Given the description of an element on the screen output the (x, y) to click on. 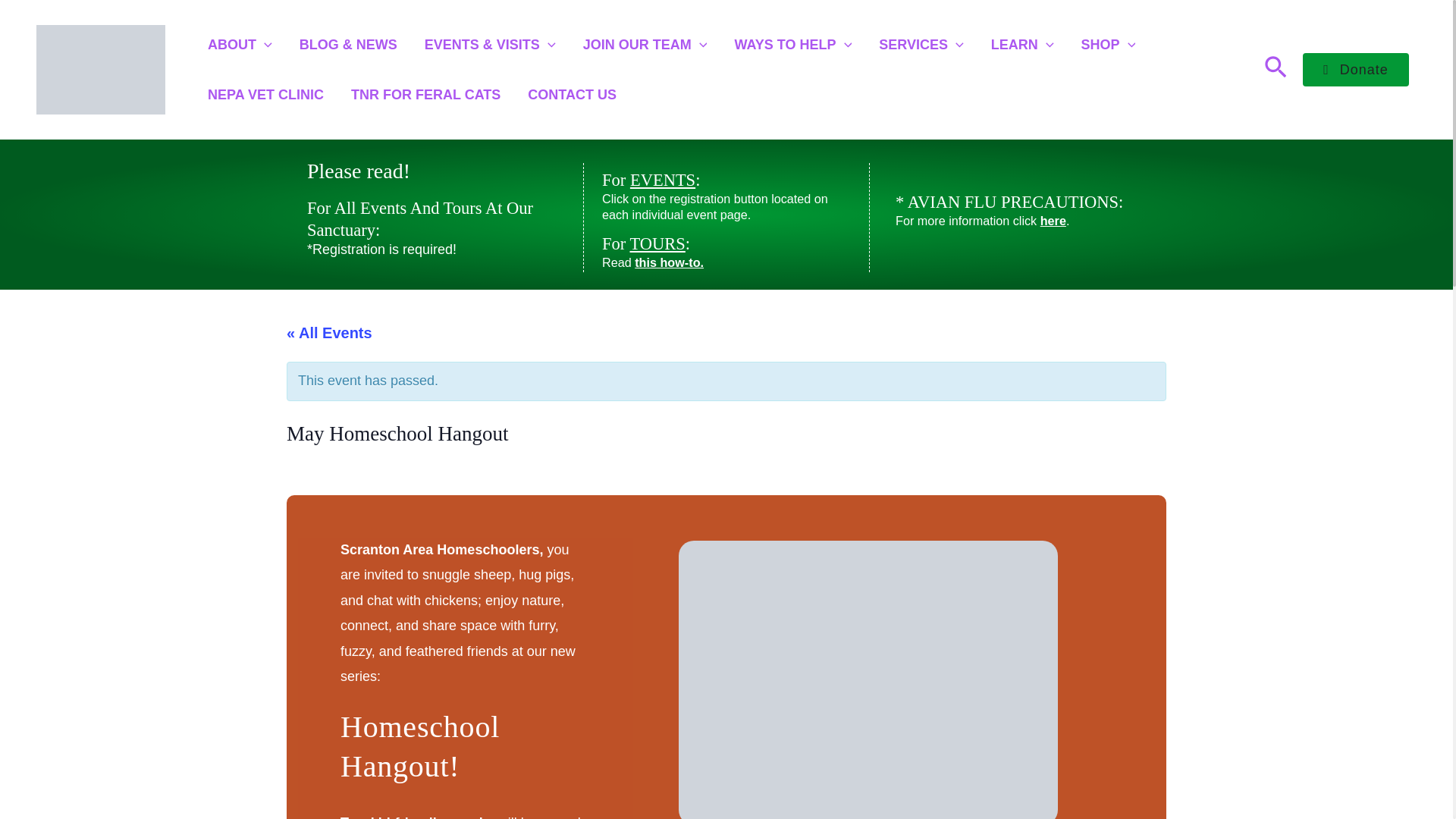
WAYS TO HELP (792, 44)
JOIN OUR TEAM (644, 44)
ABOUT (239, 44)
